Given the description of an element on the screen output the (x, y) to click on. 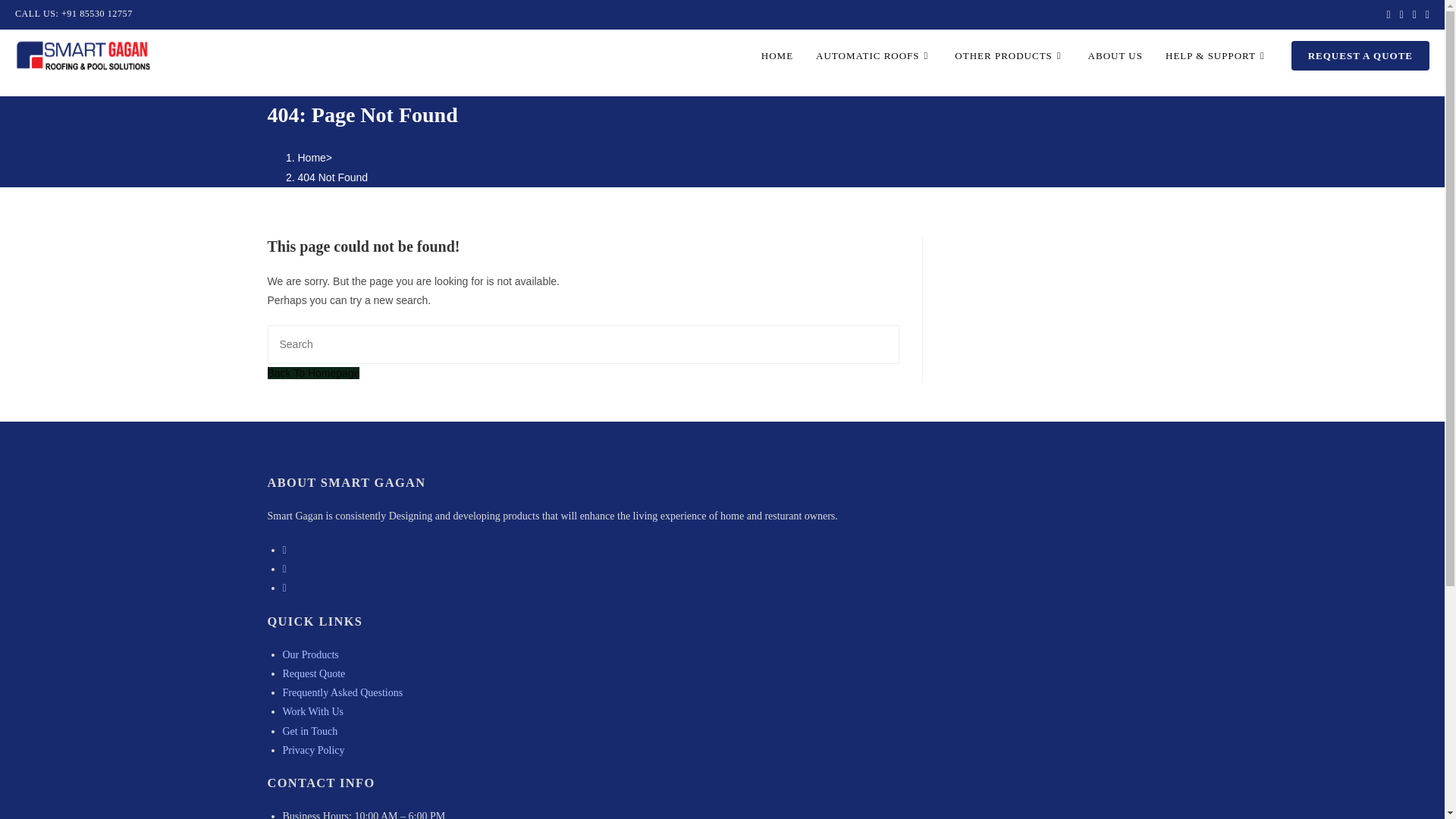
Home (310, 157)
ABOUT US (1115, 55)
AUTOMATIC ROOFS (874, 55)
OTHER PRODUCTS (1009, 55)
Back To Homepage (312, 372)
Our Products (309, 654)
REQUEST A QUOTE (1360, 55)
HOME (777, 55)
